Given the description of an element on the screen output the (x, y) to click on. 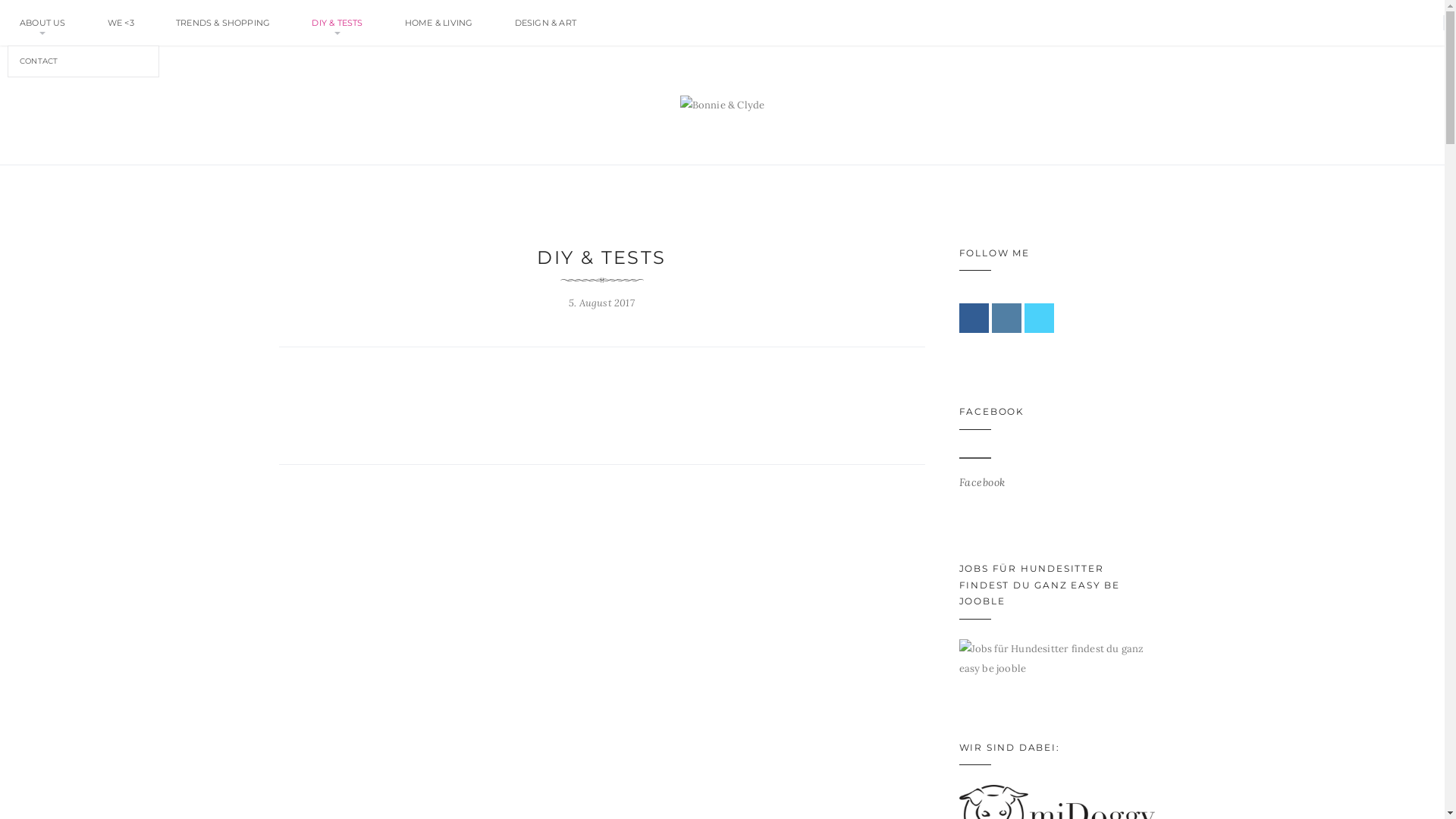
TRENDS & SHOPPING Element type: text (222, 22)
DIY & TESTS Element type: text (336, 22)
ABOUT US Element type: text (42, 22)
CONTACT Element type: text (83, 61)
WE <3 Element type: text (120, 22)
Facebook Element type: text (981, 482)
HOME & LIVING Element type: text (438, 22)
DESIGN & ART Element type: text (545, 22)
FACEBOOK Element type: text (990, 411)
